Given the description of an element on the screen output the (x, y) to click on. 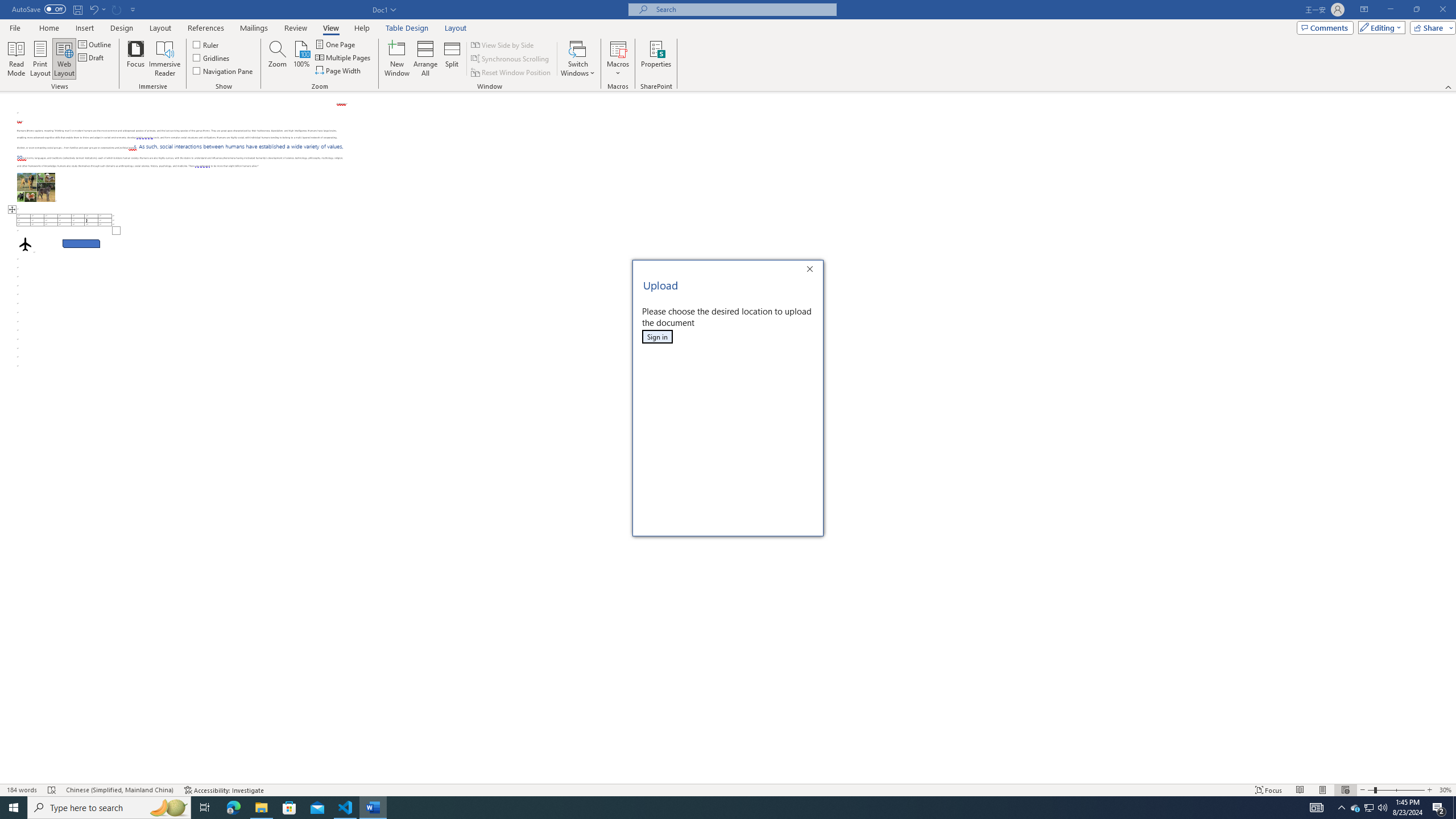
Sign in (657, 336)
Gridlines (211, 56)
Morphological variation in six dogs (36, 187)
